Given the description of an element on the screen output the (x, y) to click on. 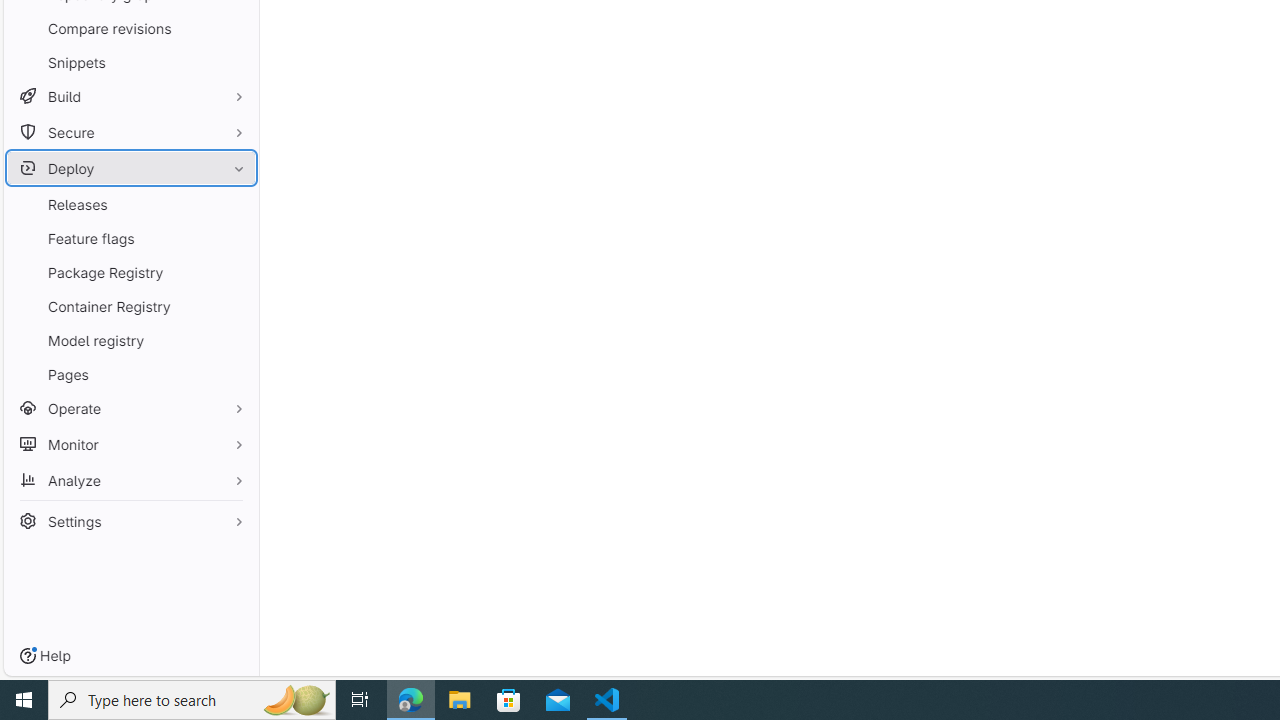
Snippets (130, 62)
Analyze (130, 479)
Operate (130, 407)
Build (130, 96)
Releases (130, 204)
Package Registry (130, 272)
Model registry (130, 340)
Compare revisions (130, 28)
